Given the description of an element on the screen output the (x, y) to click on. 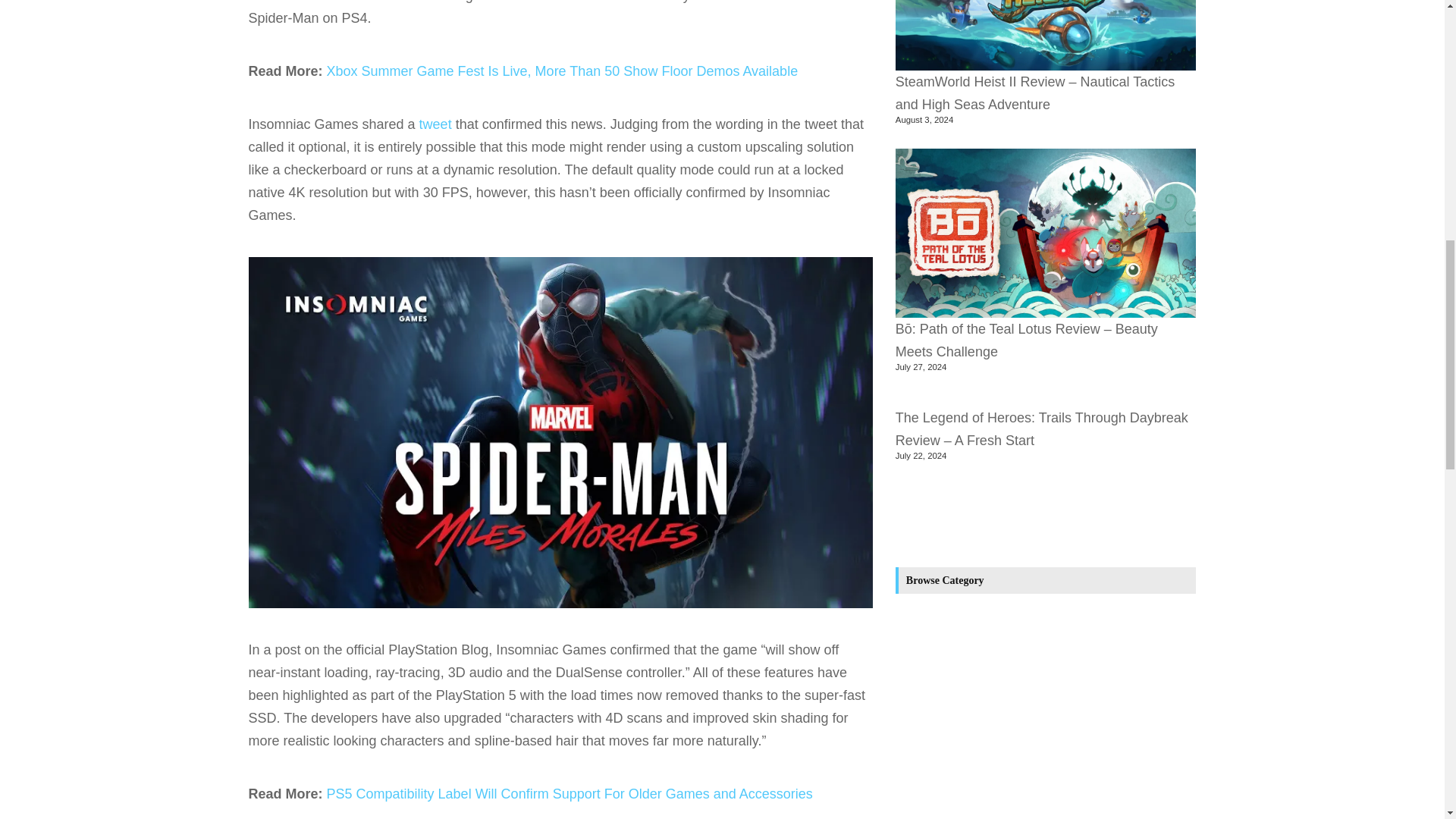
tweet (435, 124)
